Given the description of an element on the screen output the (x, y) to click on. 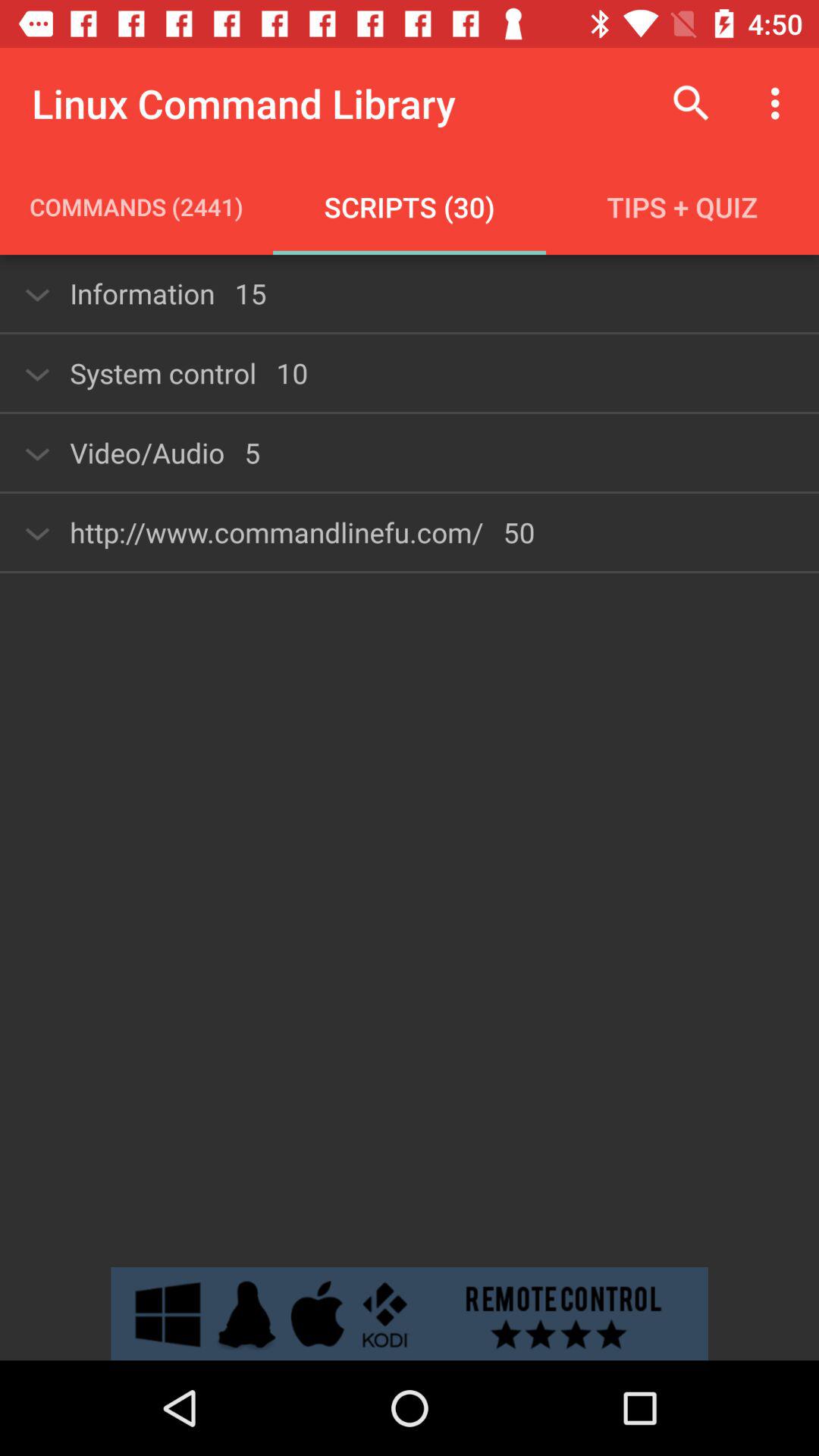
open remote control advertisement (409, 1313)
